Given the description of an element on the screen output the (x, y) to click on. 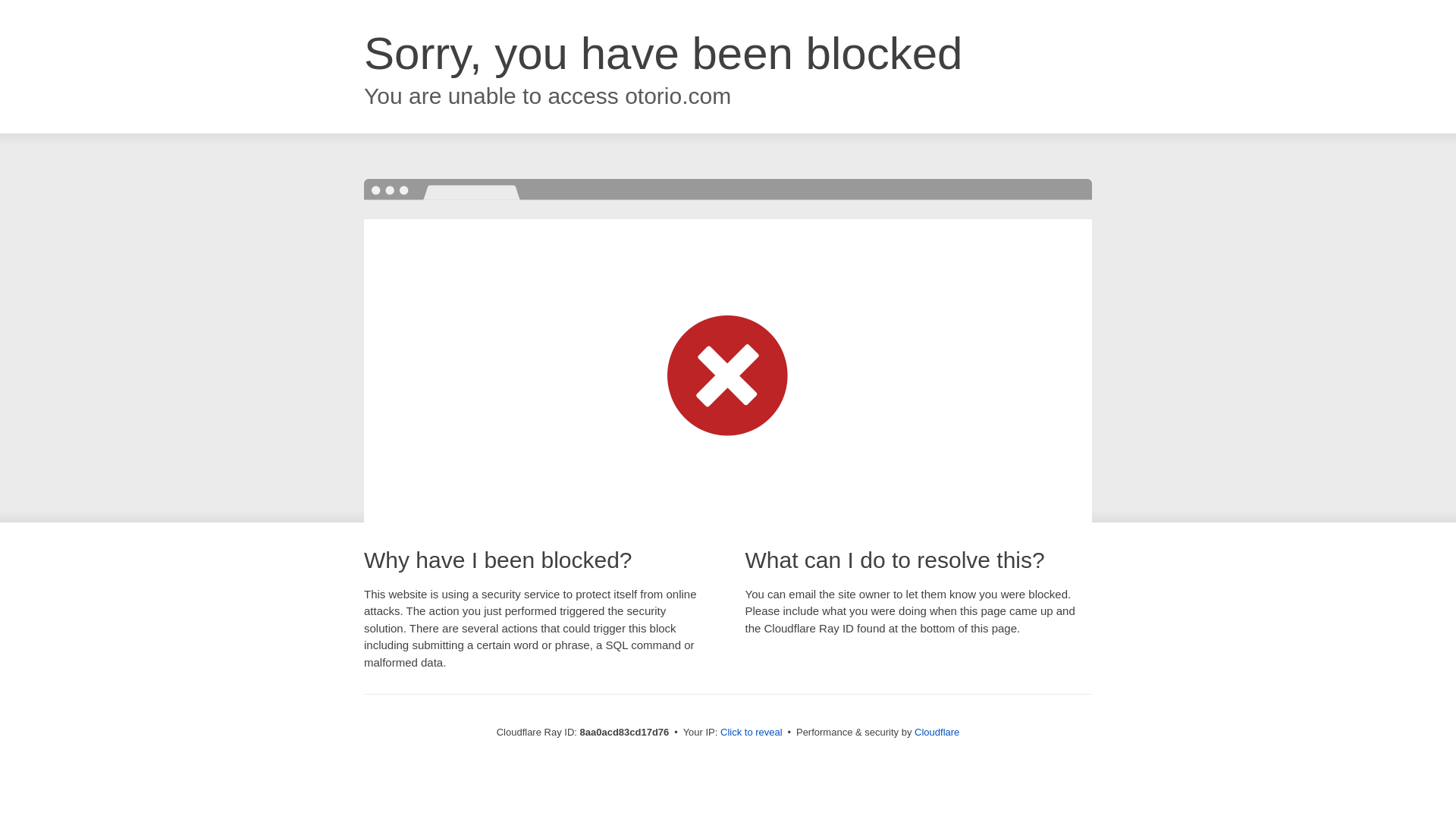
Cloudflare (936, 731)
Click to reveal (751, 732)
